Given the description of an element on the screen output the (x, y) to click on. 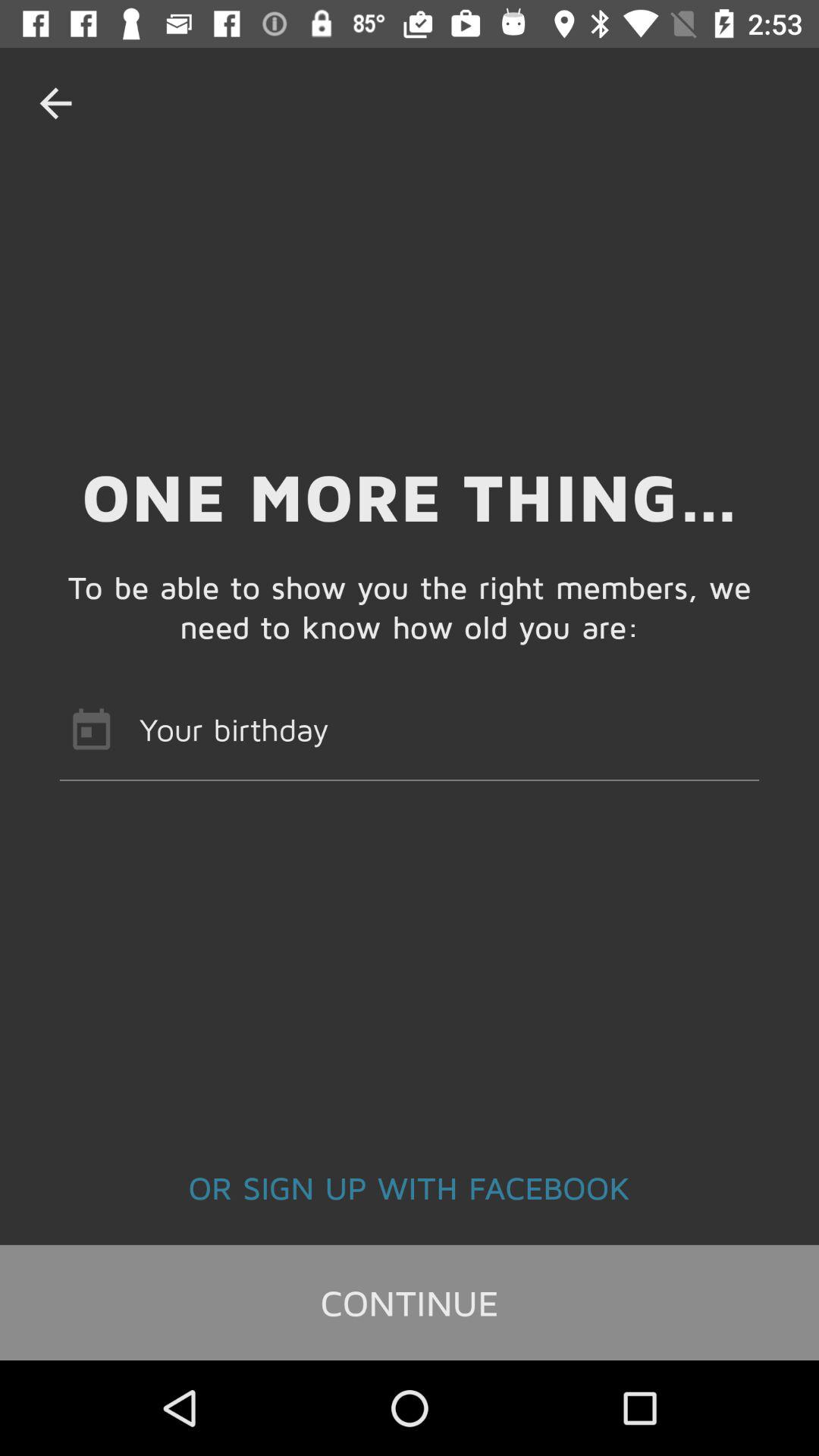
launch the or sign up item (409, 1186)
